Given the description of an element on the screen output the (x, y) to click on. 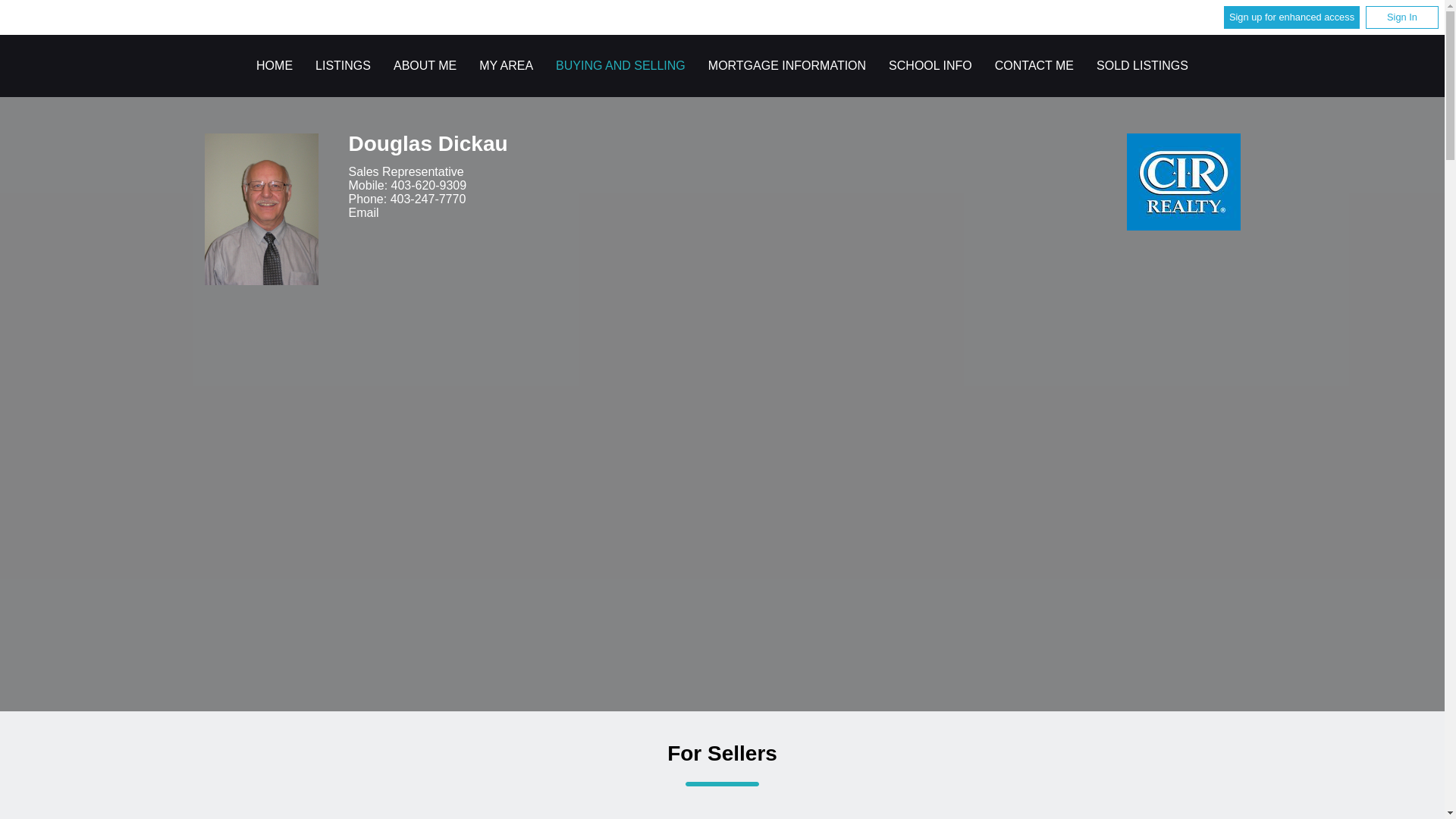
LISTINGS (343, 65)
Contact Me (1034, 65)
ABOUT ME (425, 65)
Home (1183, 181)
BUYING AND SELLING (620, 65)
About Me (425, 65)
CONTACT ME (1034, 65)
Sold Listings (1142, 65)
Home (274, 65)
SOLD LISTINGS (1142, 65)
MY AREA (505, 65)
Email (363, 213)
School Info (930, 65)
Douglas Dickau (261, 209)
MORTGAGE INFORMATION (786, 65)
